Given the description of an element on the screen output the (x, y) to click on. 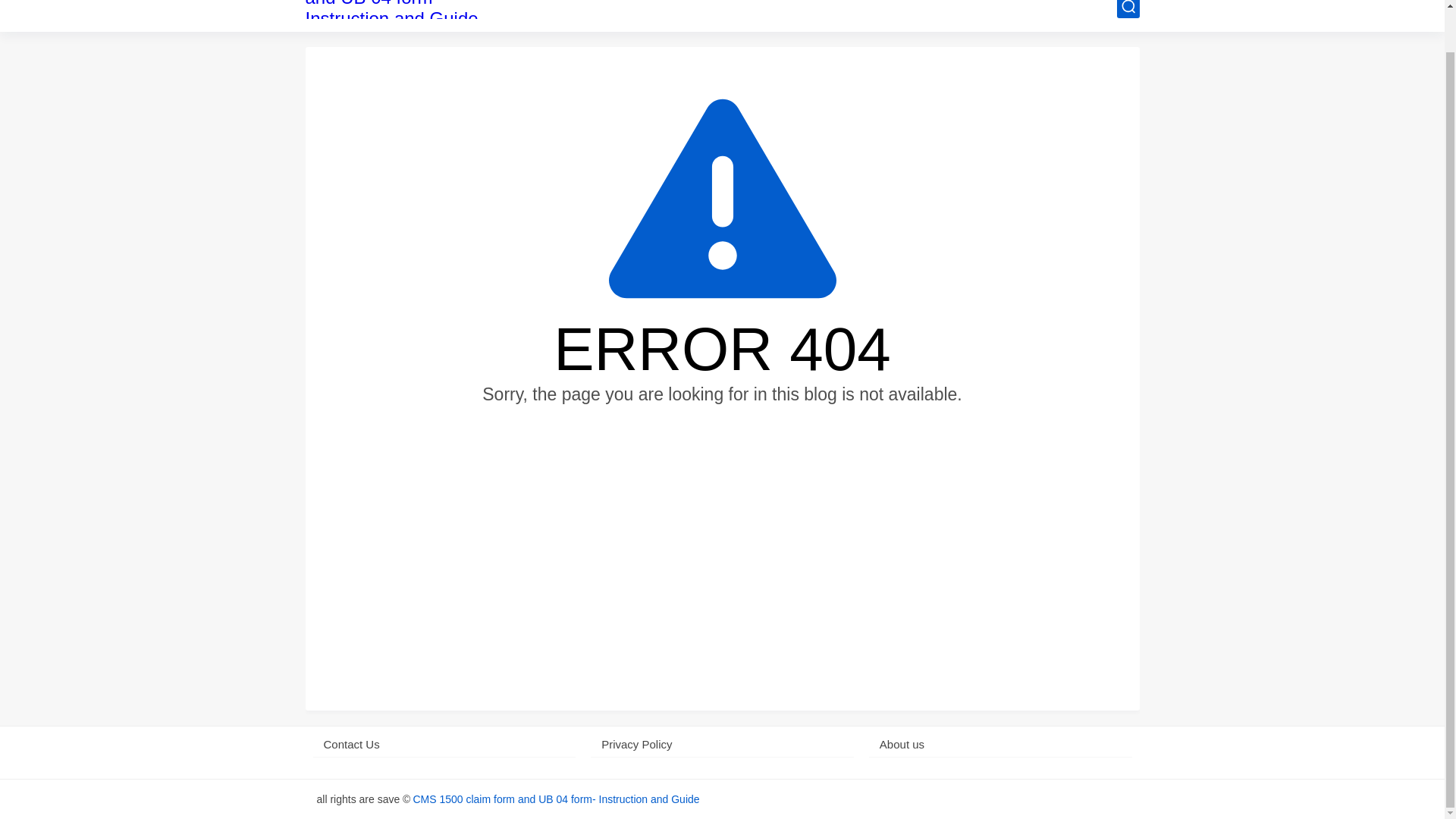
Privacy Policy (722, 744)
About us (1000, 744)
CMS 1500 claim form and UB 04 form- Instruction and Guide (399, 9)
CMS 1500 claim form and UB 04 form- Instruction and Guide (555, 799)
Contact Us (444, 744)
